Given the description of an element on the screen output the (x, y) to click on. 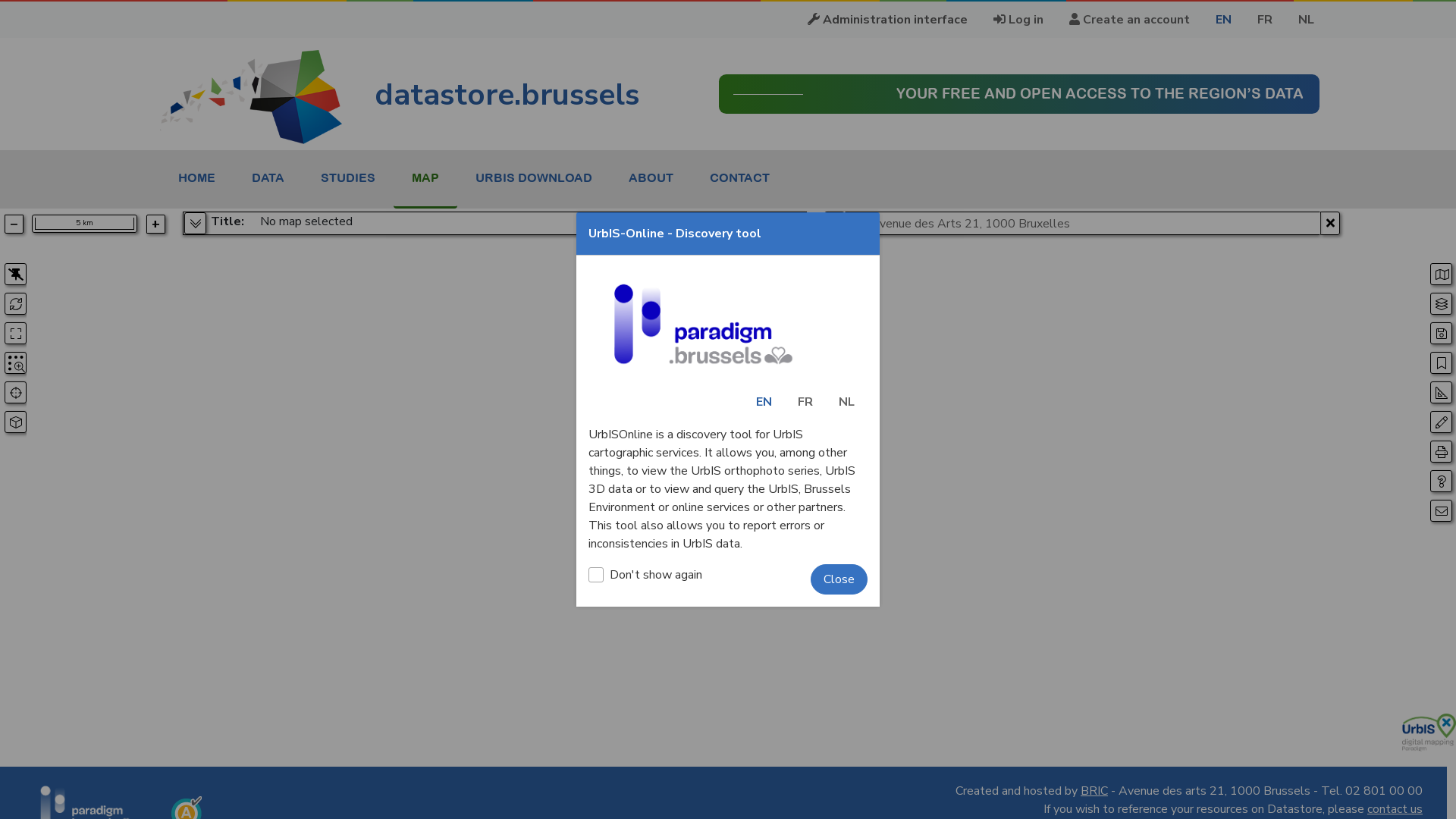
DATA Element type: text (267, 177)
ABOUT Element type: text (650, 177)
HOME Element type: text (196, 177)
Administration interface Element type: text (887, 19)
datastore.brussels Element type: text (399, 94)
FR Element type: text (1264, 19)
URBIS DOWNLOAD Element type: text (533, 177)
BRIC Element type: text (1093, 790)
+ Element type: text (155, 223)
STUDIES Element type: text (347, 177)
EN Element type: text (1223, 19)
Log in Element type: text (1018, 19)
FR Element type: text (804, 401)
NL Element type: text (1306, 19)
Create an account Element type: text (1129, 19)
NL Element type: text (846, 401)
EN Element type: text (763, 401)
contact us Element type: text (1394, 808)
CONTACT Element type: text (739, 177)
MAP Element type: text (425, 177)
Close Element type: text (838, 579)
